Given the description of an element on the screen output the (x, y) to click on. 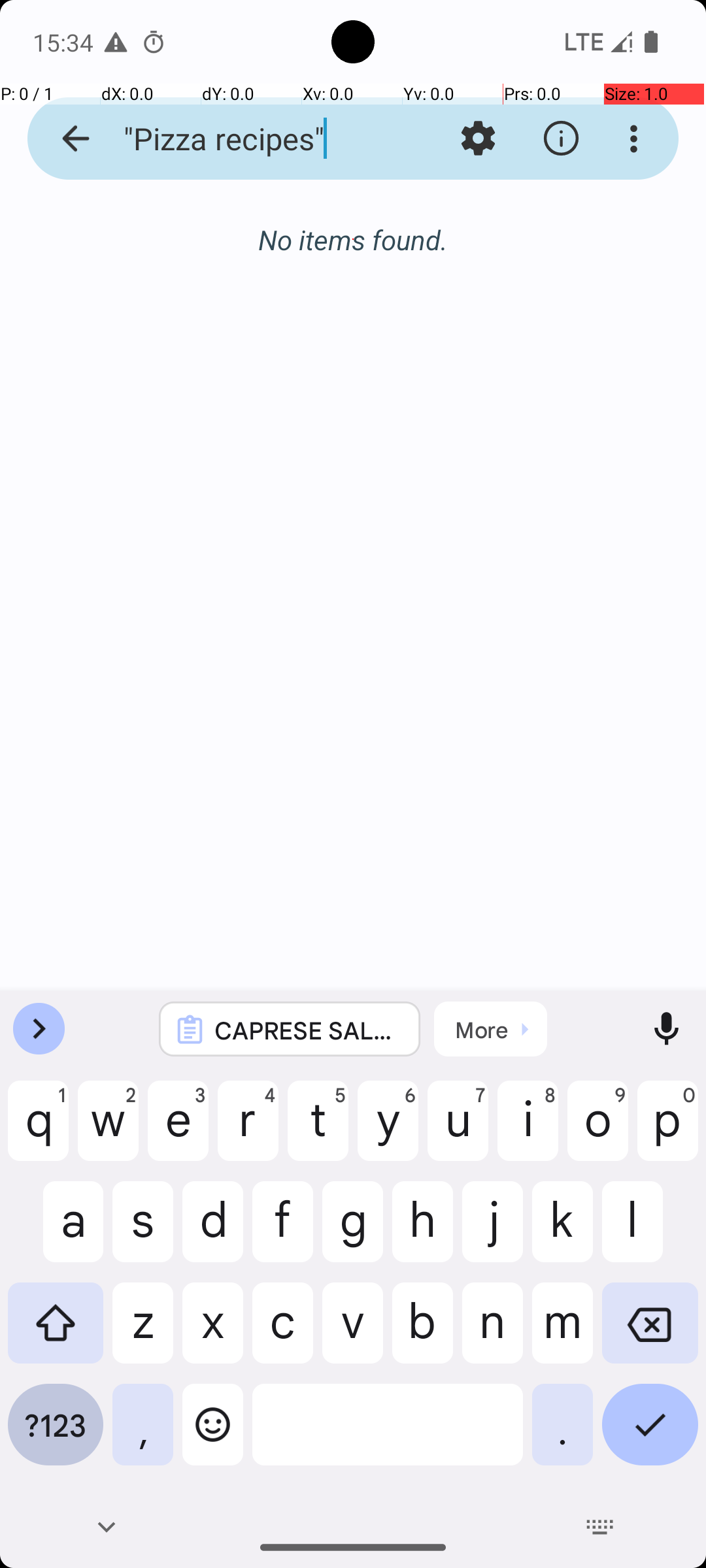
"Pizza recipes" Element type: android.widget.EditText (252, 138)
CAPRESE SALAD SKEWERS  Servings: 1 serving Time: 45 mins  A quick and easy meal, perfect for busy weekdays.  Ingredients: - n/a  Directions: 1. Thread cherry tomatoes, basil leaves, and mozzarella balls onto skewers. Drizzle with balsamic glaze. Feel free to substitute with ingredients you have on hand.  Shared with https://play.google.com/store/apps/details?id=com.flauschcode.broccoli Element type: android.widget.TextView (306, 1029)
